Given the description of an element on the screen output the (x, y) to click on. 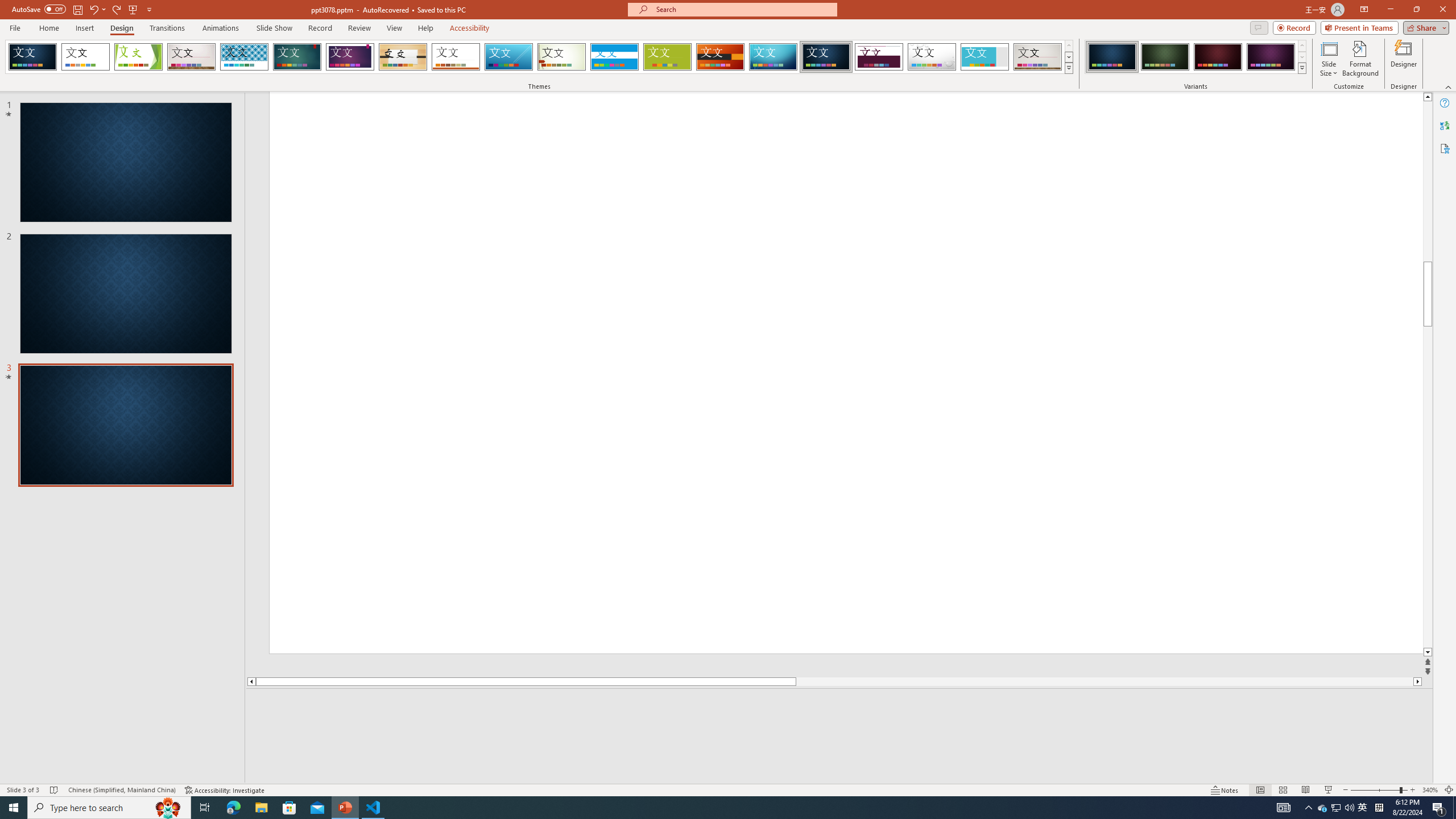
Ion Boardroom (350, 56)
Zoom 340% (1430, 790)
Retrospect (455, 56)
Wisp (561, 56)
An abstract genetic concept (971, 372)
